Given the description of an element on the screen output the (x, y) to click on. 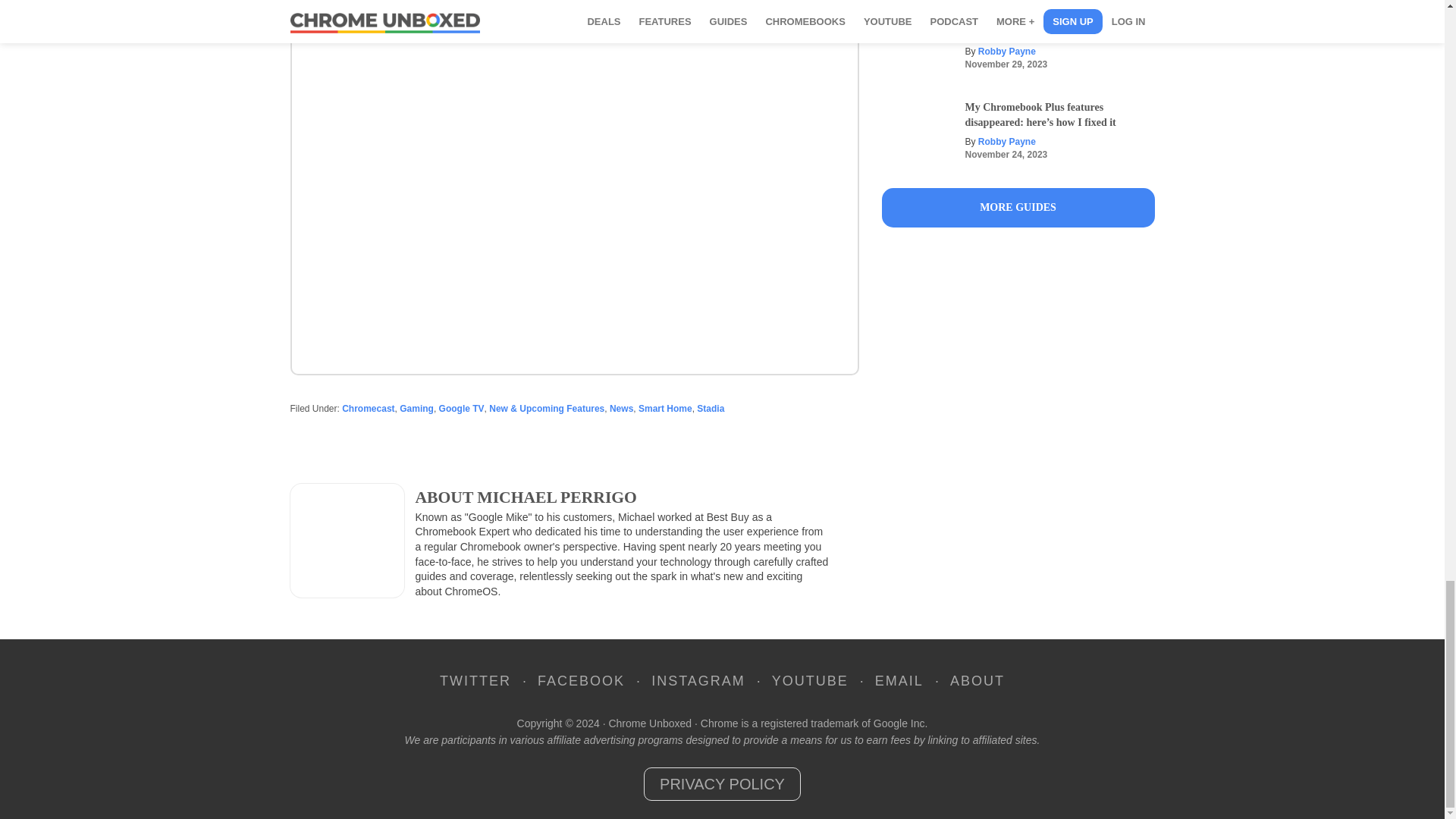
Guides and How-To's (1017, 207)
